Given the description of an element on the screen output the (x, y) to click on. 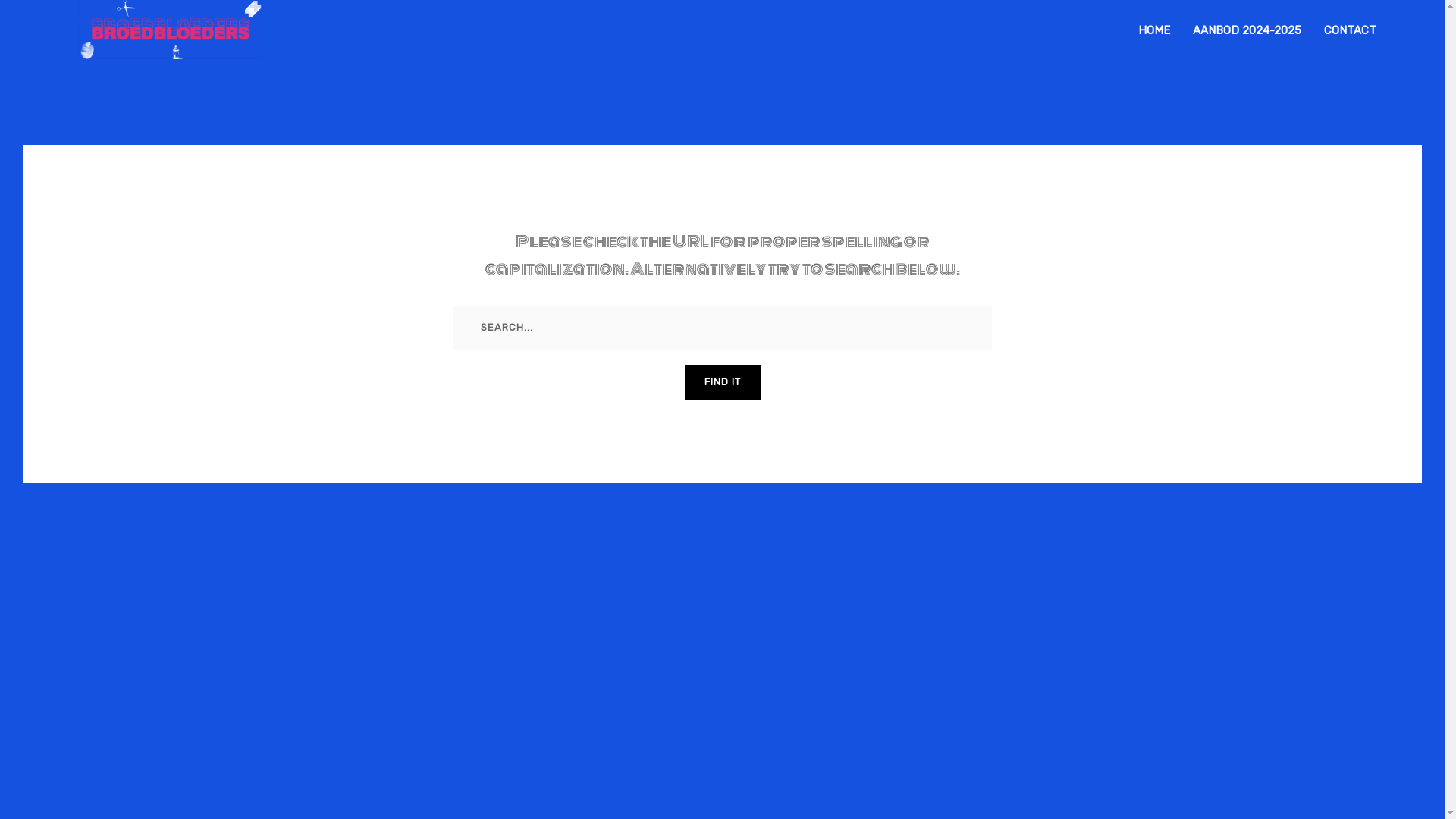
Find It Element type: text (721, 381)
AANBOD 2024-2025 Element type: text (1246, 30)
HOME Element type: text (1154, 30)
CONTACT Element type: text (1350, 30)
